Given the description of an element on the screen output the (x, y) to click on. 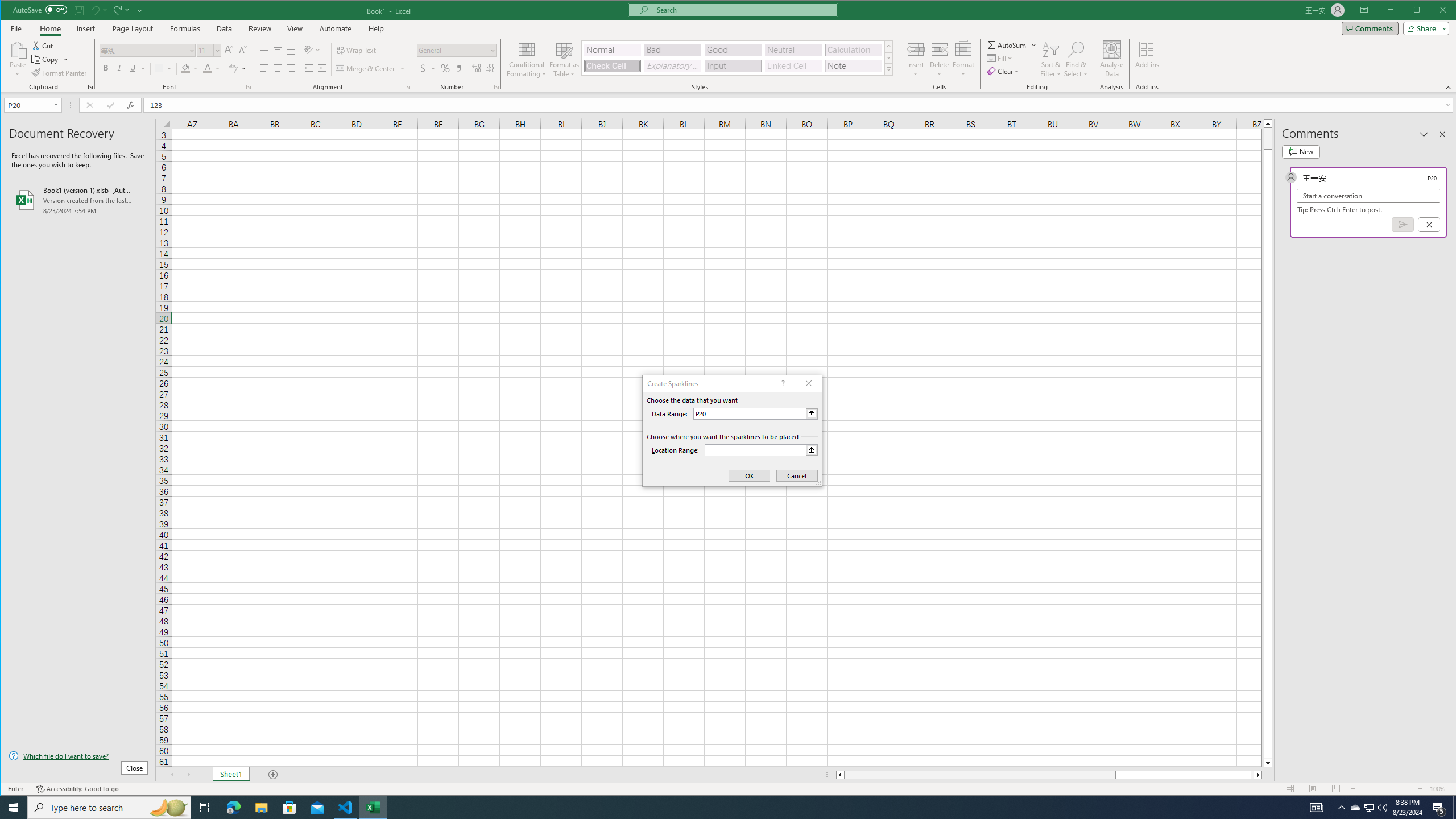
Decrease Indent (308, 68)
Cell Styles (887, 69)
Neutral (793, 49)
Calculation (853, 49)
AutoSave (39, 9)
Fill Color RGB(255, 255, 0) (185, 68)
Bold (105, 68)
Office Clipboard... (89, 86)
Merge & Center (370, 68)
Cut (42, 45)
